Given the description of an element on the screen output the (x, y) to click on. 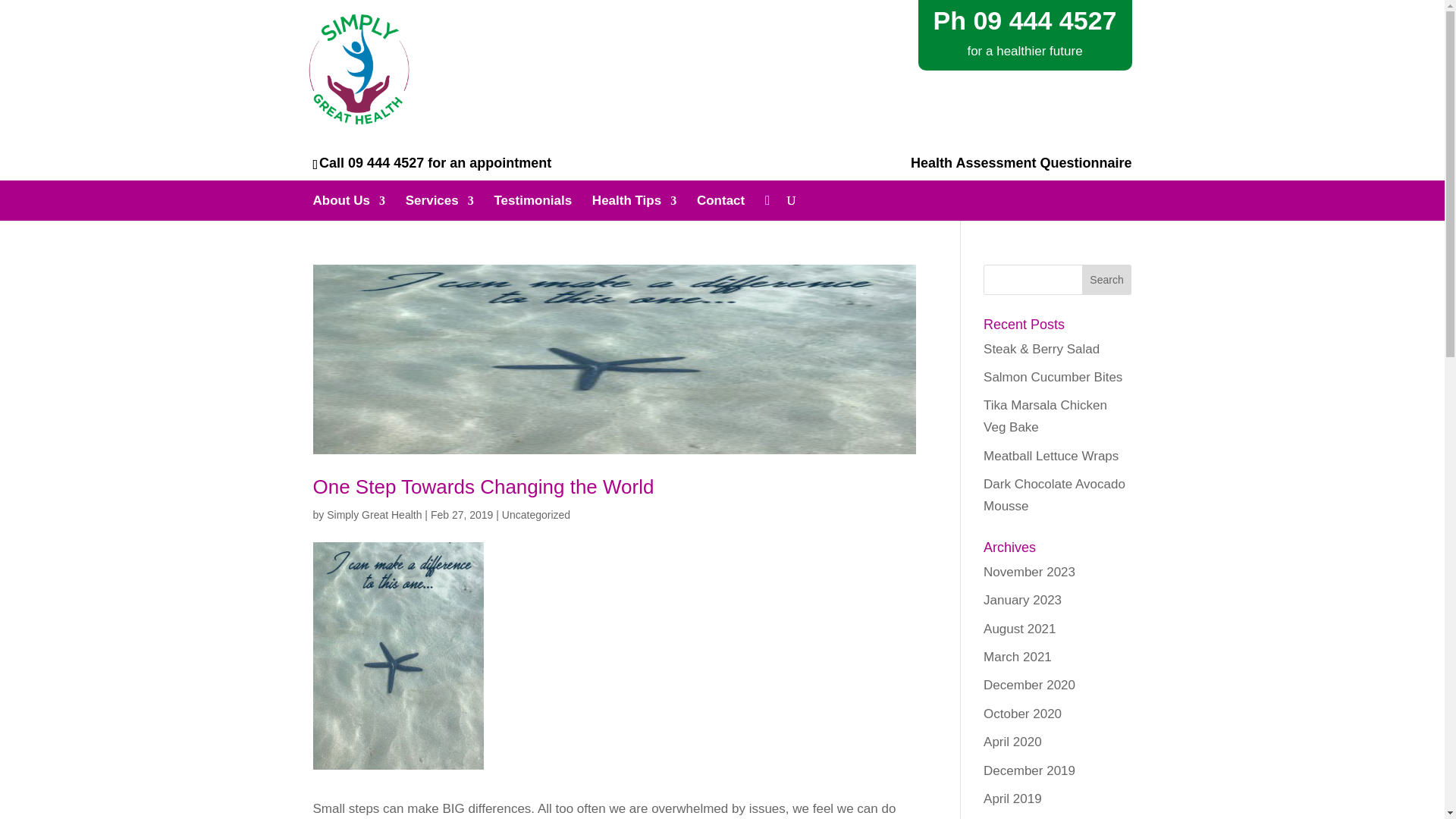
Contact (720, 207)
Posts by Simply Great Health (374, 514)
Testimonials (532, 207)
Services (440, 207)
About Us (349, 207)
Health Tips (634, 207)
Health Assessment Questionnaire (1021, 162)
Search (1106, 279)
09 444 4527 (385, 162)
